Given the description of an element on the screen output the (x, y) to click on. 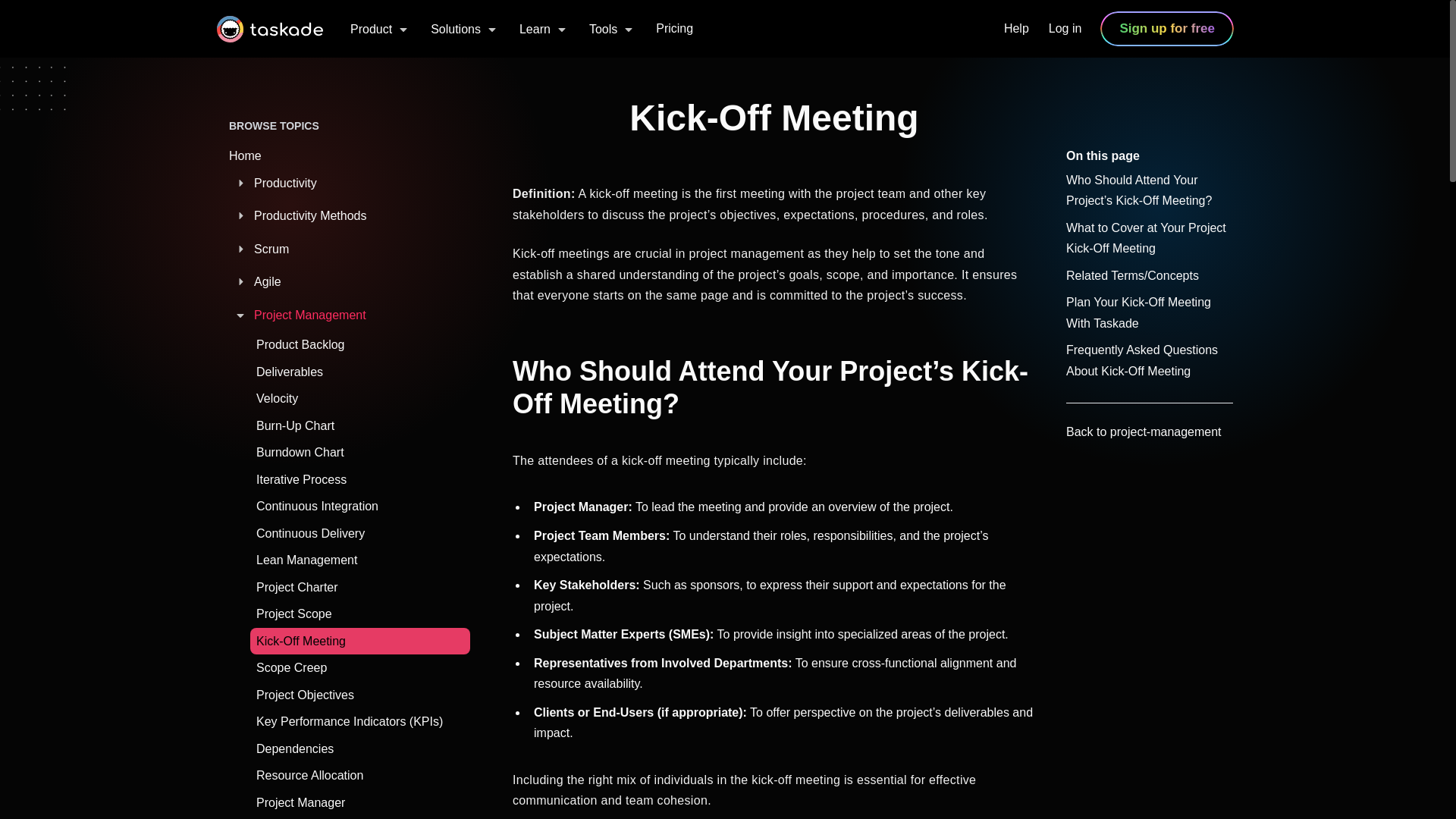
Sign up for free (1166, 28)
Resource Allocation (360, 775)
Burn-Up Chart (360, 425)
Agile (338, 281)
Project Scope (360, 614)
Scrum (338, 249)
Scope Creep (360, 667)
Project Objectives (360, 695)
Help (1016, 28)
Lean Management (360, 560)
